Given the description of an element on the screen output the (x, y) to click on. 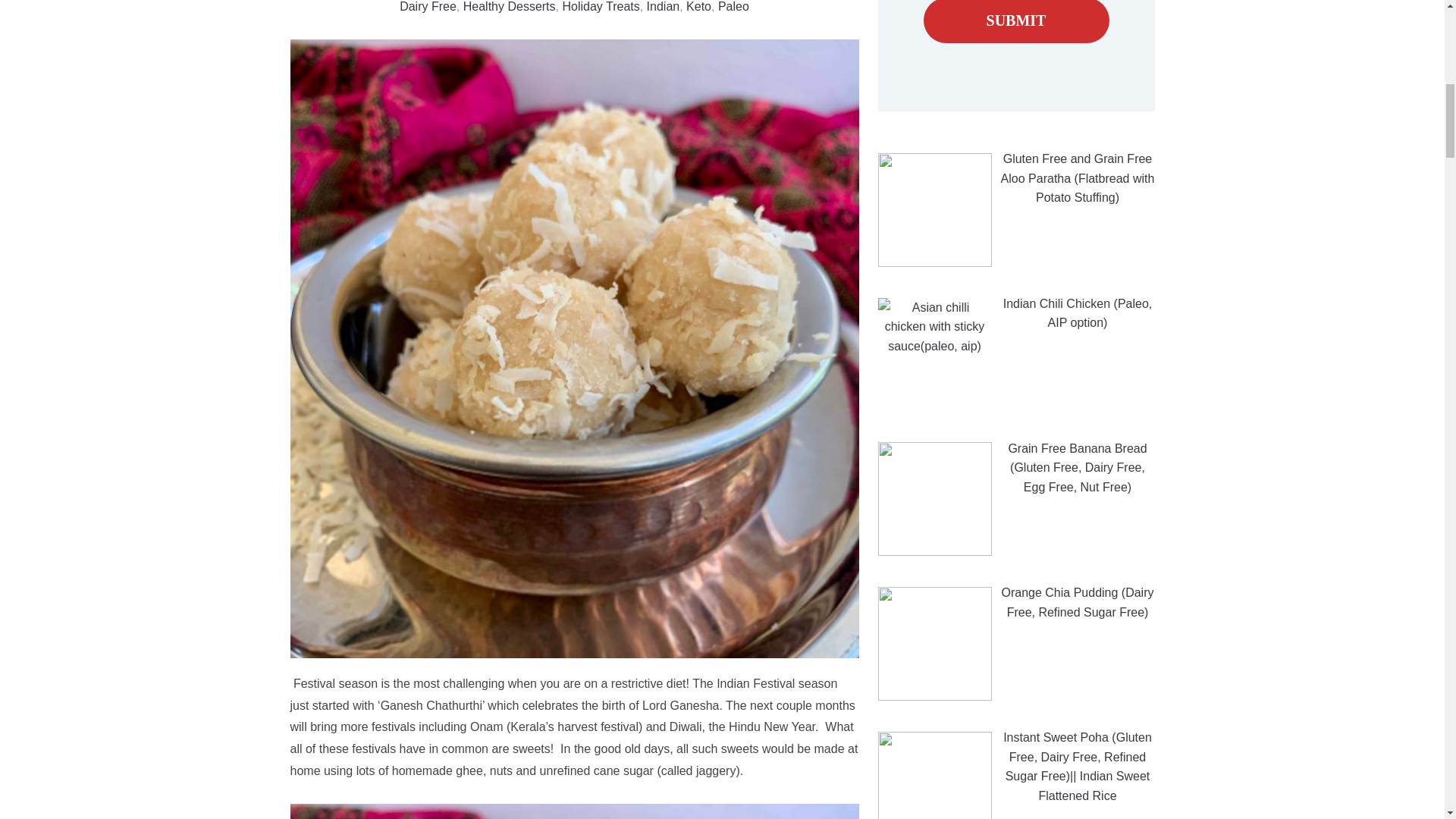
SUBMIT (1016, 21)
